Given the description of an element on the screen output the (x, y) to click on. 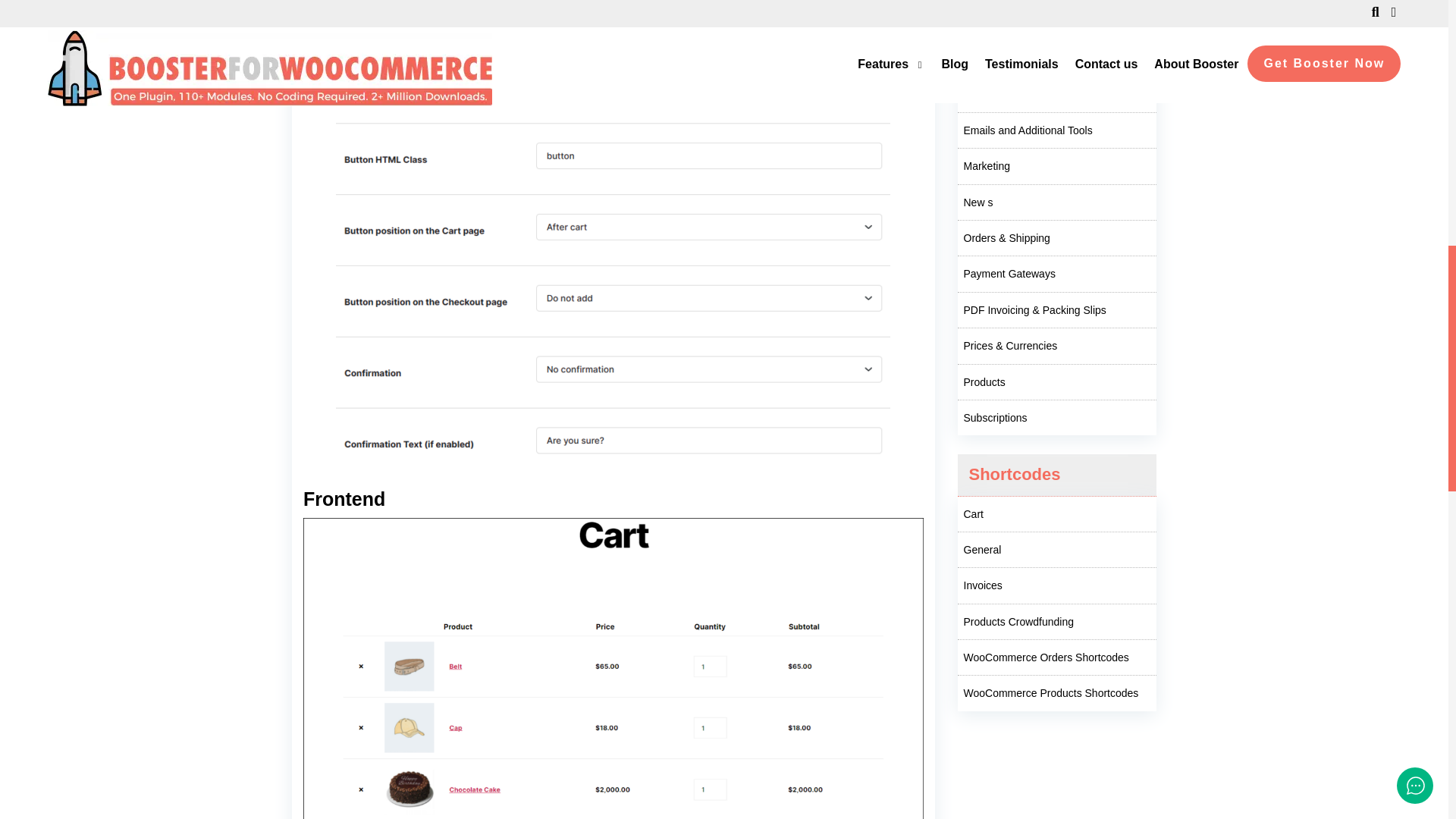
View all posts in Payment Gateways Feature (1056, 273)
View all posts in Emails and Additional Tools Feature (1056, 130)
View all posts in New Features (1056, 202)
View all posts in Products Feature (1056, 382)
View all posts in Marketing (1056, 166)
View all posts in Subscriptions (1056, 417)
View all posts in Cart (1056, 513)
